Given the description of an element on the screen output the (x, y) to click on. 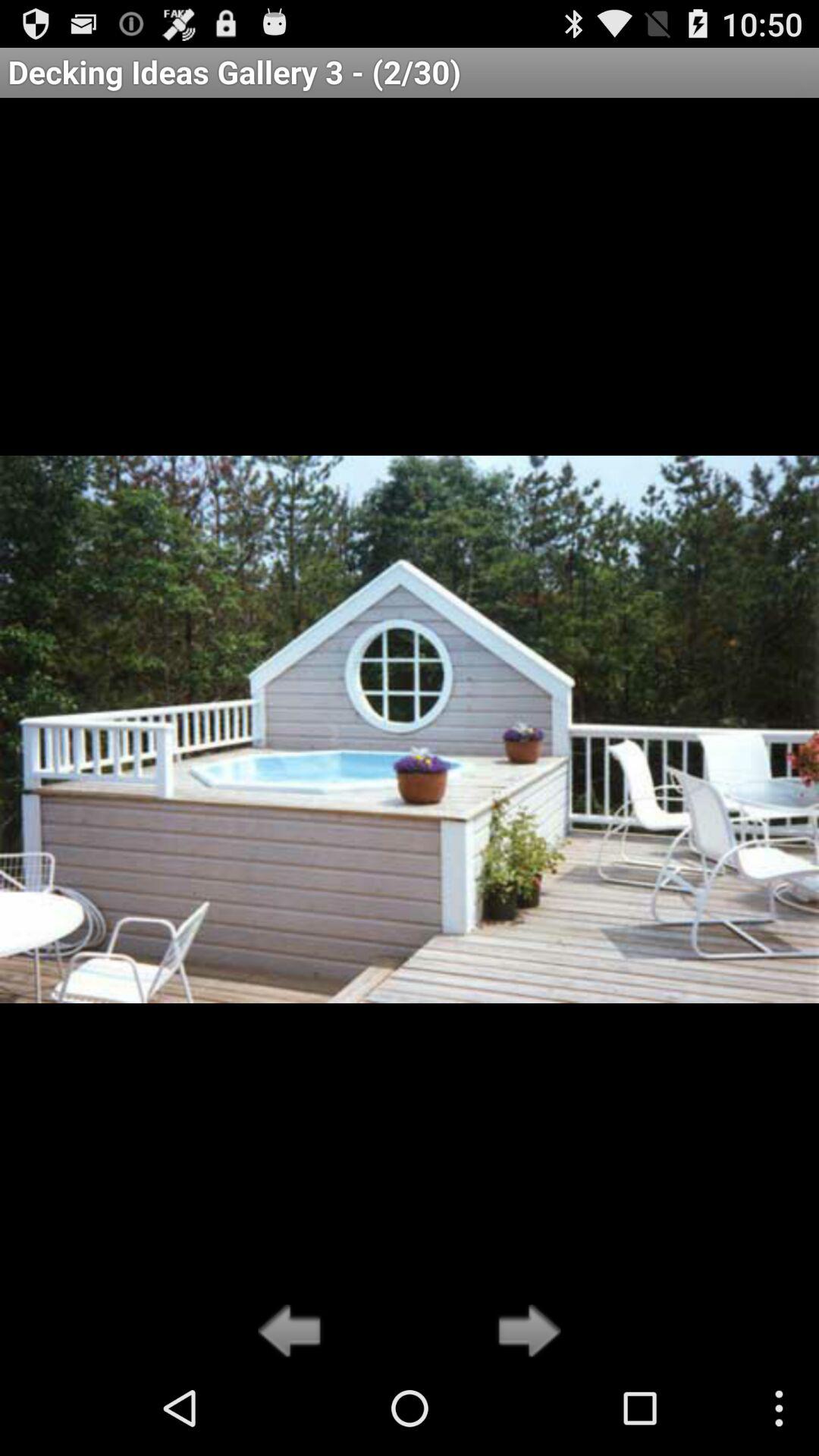
go back (293, 1332)
